Given the description of an element on the screen output the (x, y) to click on. 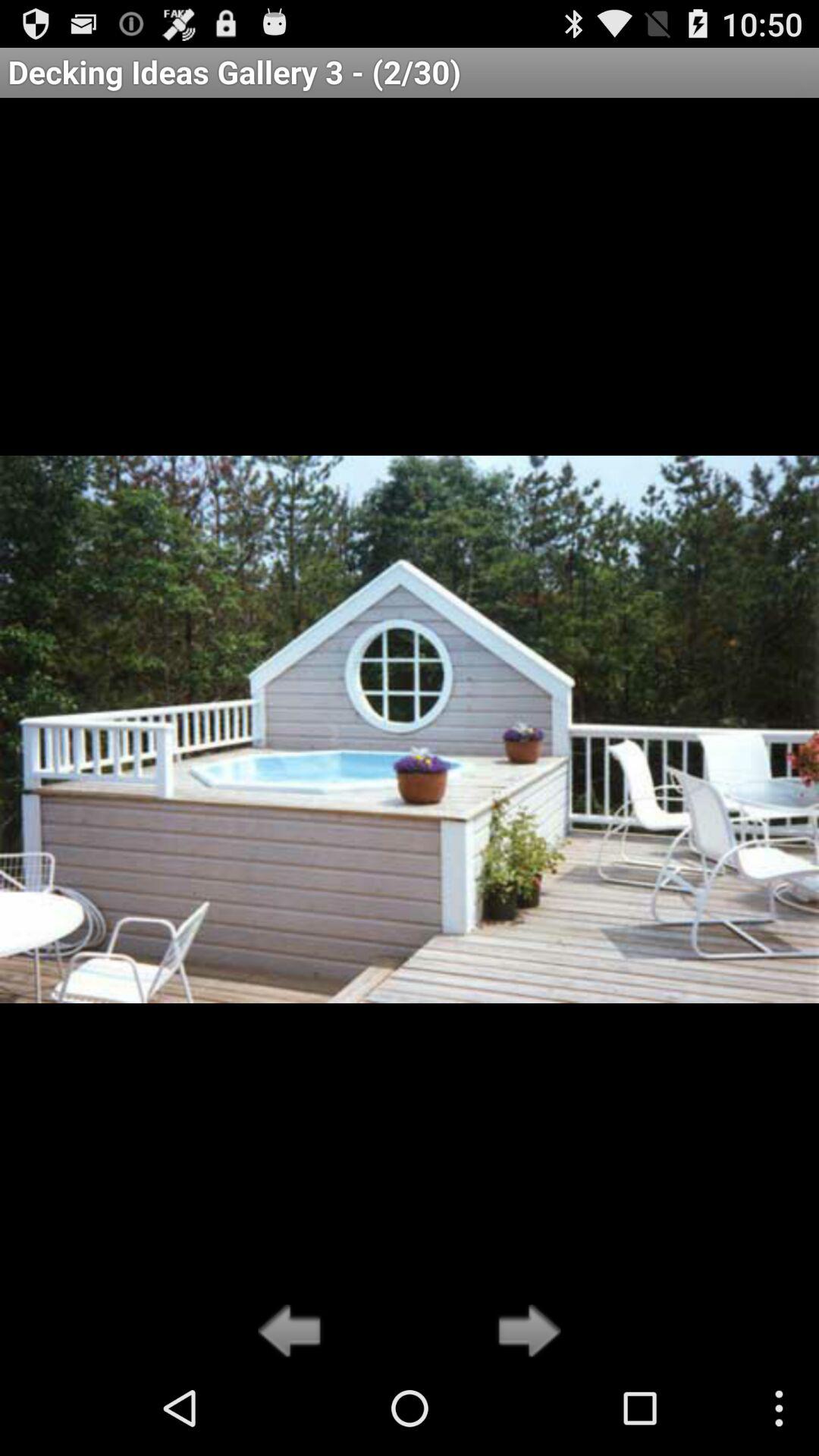
go back (293, 1332)
